Given the description of an element on the screen output the (x, y) to click on. 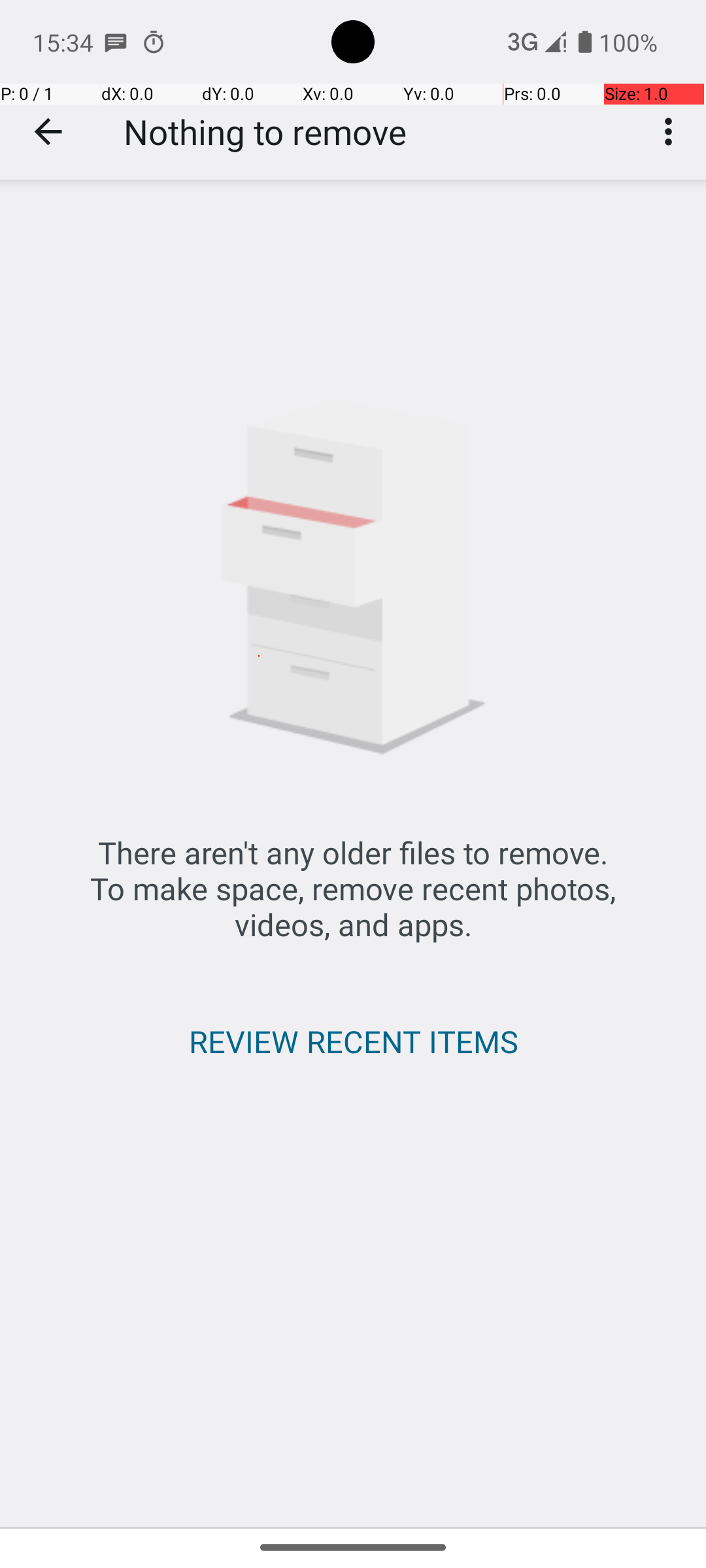
Nothing to remove Element type: android.widget.TextView (265, 131)
There aren't any older files to remove. To make space, remove recent photos, videos, and apps. Element type: android.widget.TextView (353, 887)
REVIEW RECENT ITEMS Element type: android.widget.TextView (352, 1040)
